Given the description of an element on the screen output the (x, y) to click on. 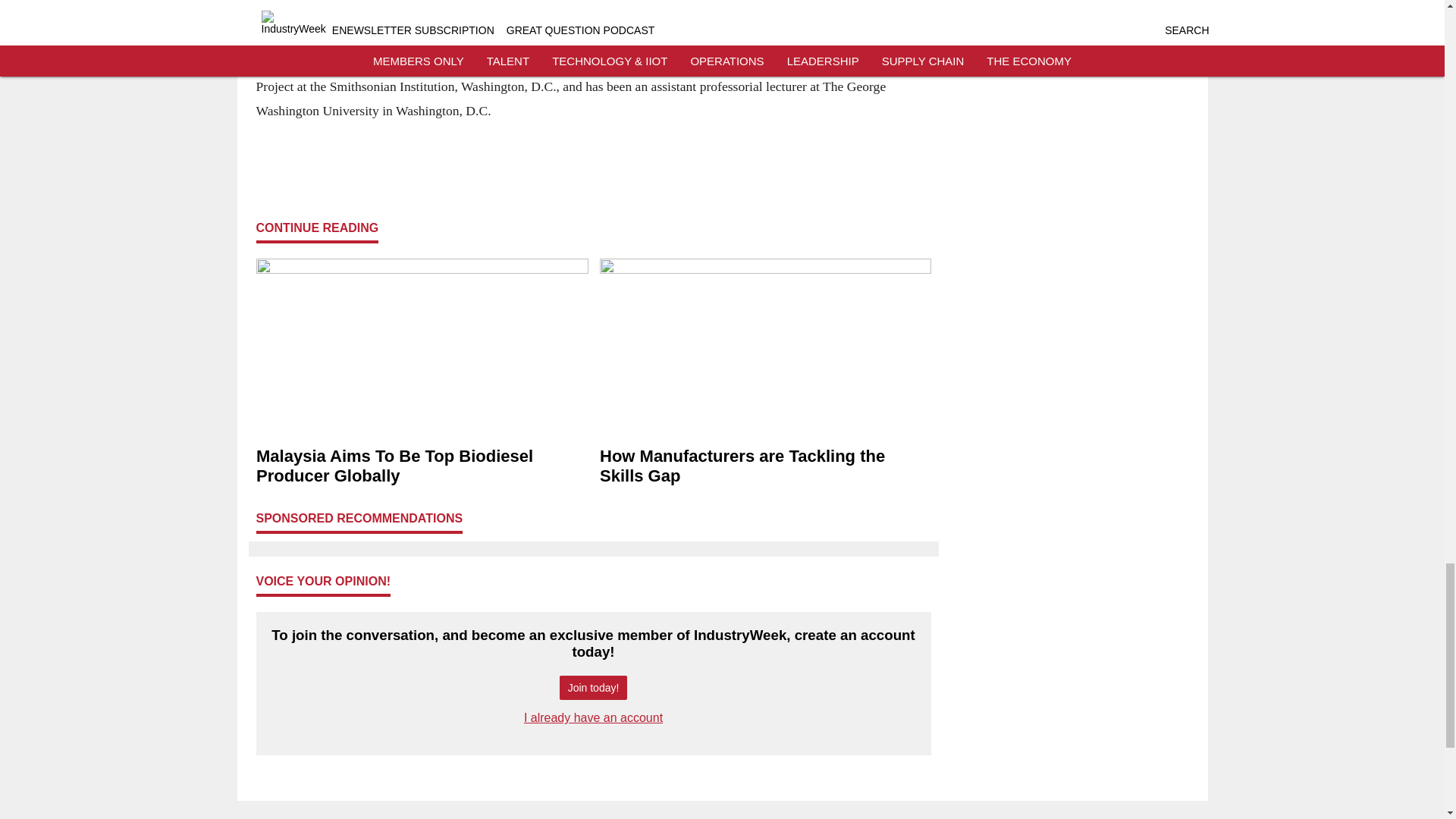
I already have an account (593, 717)
Malaysia Aims To Be Top Biodiesel Producer Globally (422, 466)
How Manufacturers are Tackling the Skills Gap (764, 466)
Join today! (593, 688)
